Given the description of an element on the screen output the (x, y) to click on. 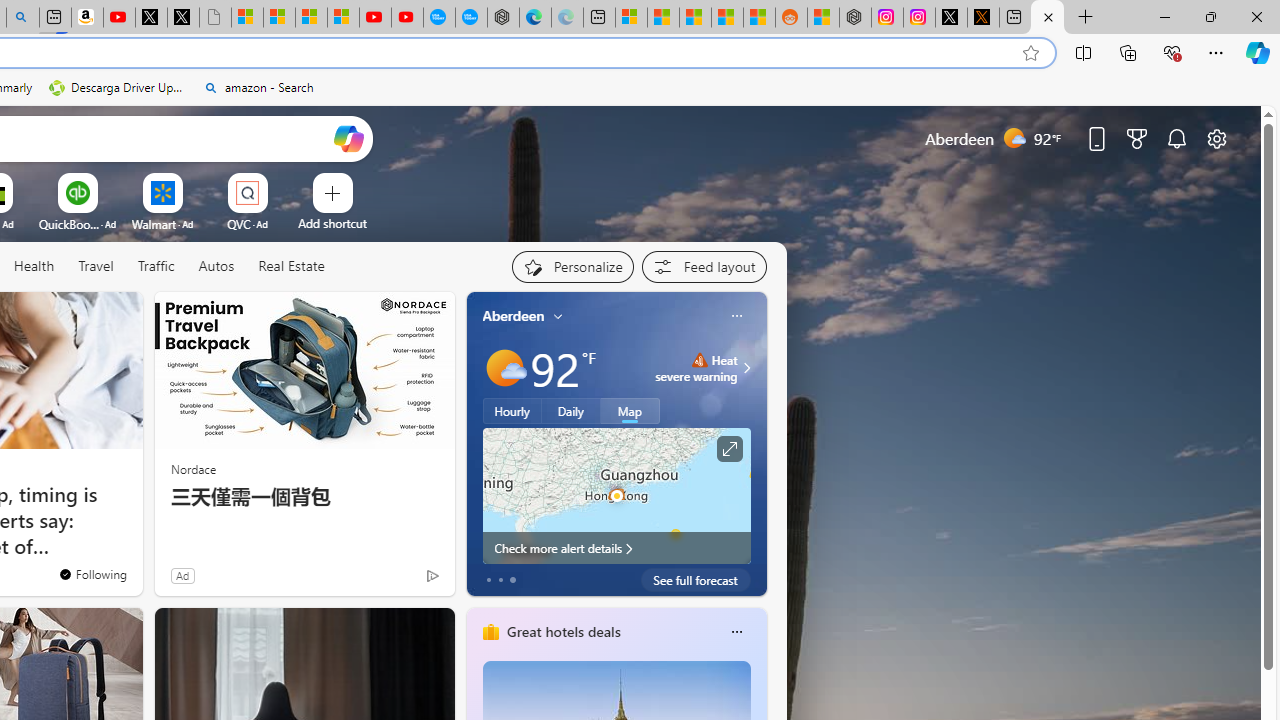
Page settings (1216, 138)
Click to see more information (728, 449)
Untitled (215, 17)
Autos (215, 265)
tab-0 (488, 579)
Mostly sunny (504, 368)
Descarga Driver Updater (118, 88)
